Given the description of an element on the screen output the (x, y) to click on. 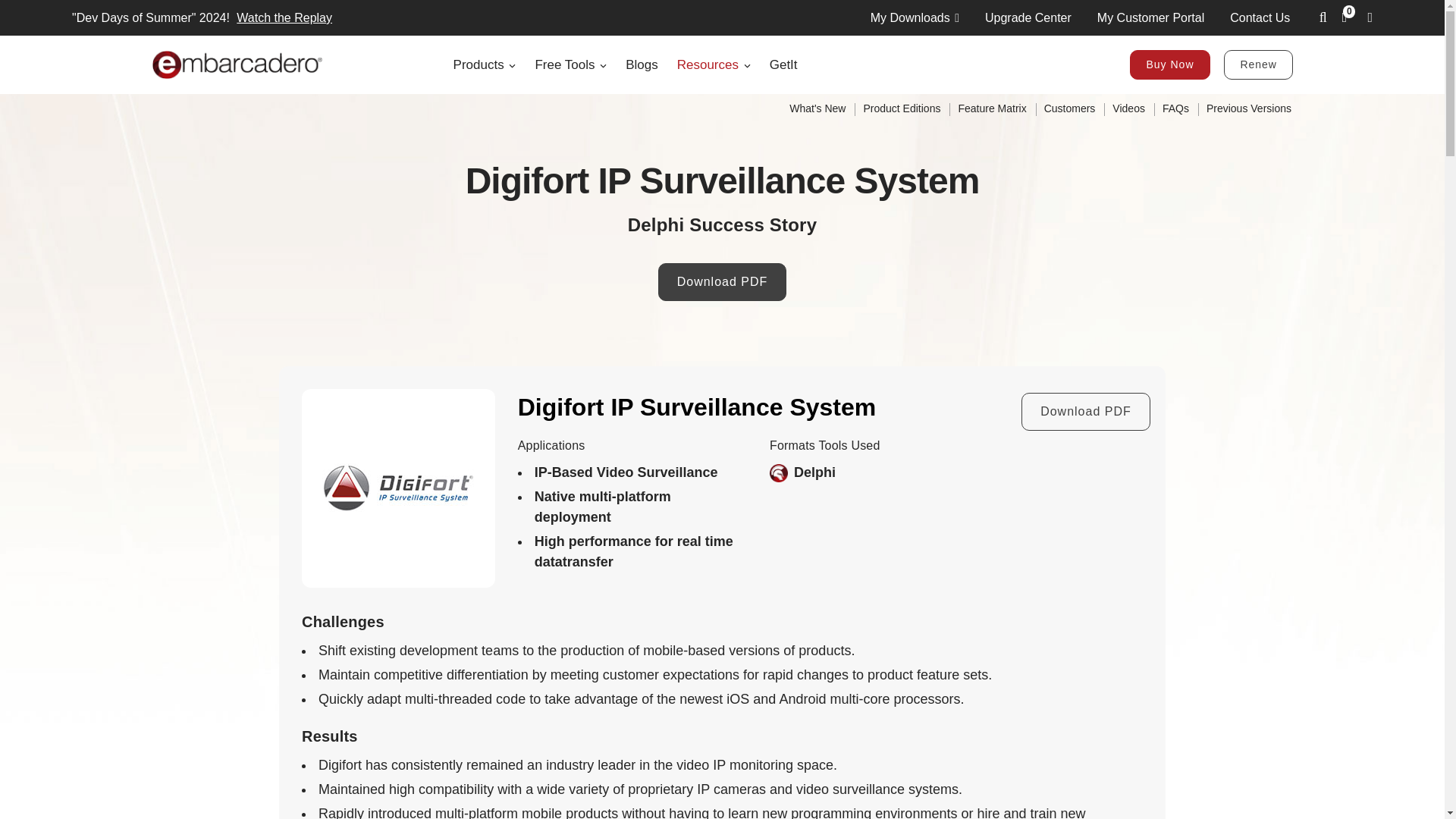
Contact Us (1260, 17)
Watch the Replay (281, 17)
Digifort IP Surveillance System (398, 487)
Embarcadero (237, 64)
Free Tools (570, 64)
Products (484, 64)
My Downloads (914, 17)
Upgrade Center (1028, 17)
My Customer Portal (1150, 17)
